Given the description of an element on the screen output the (x, y) to click on. 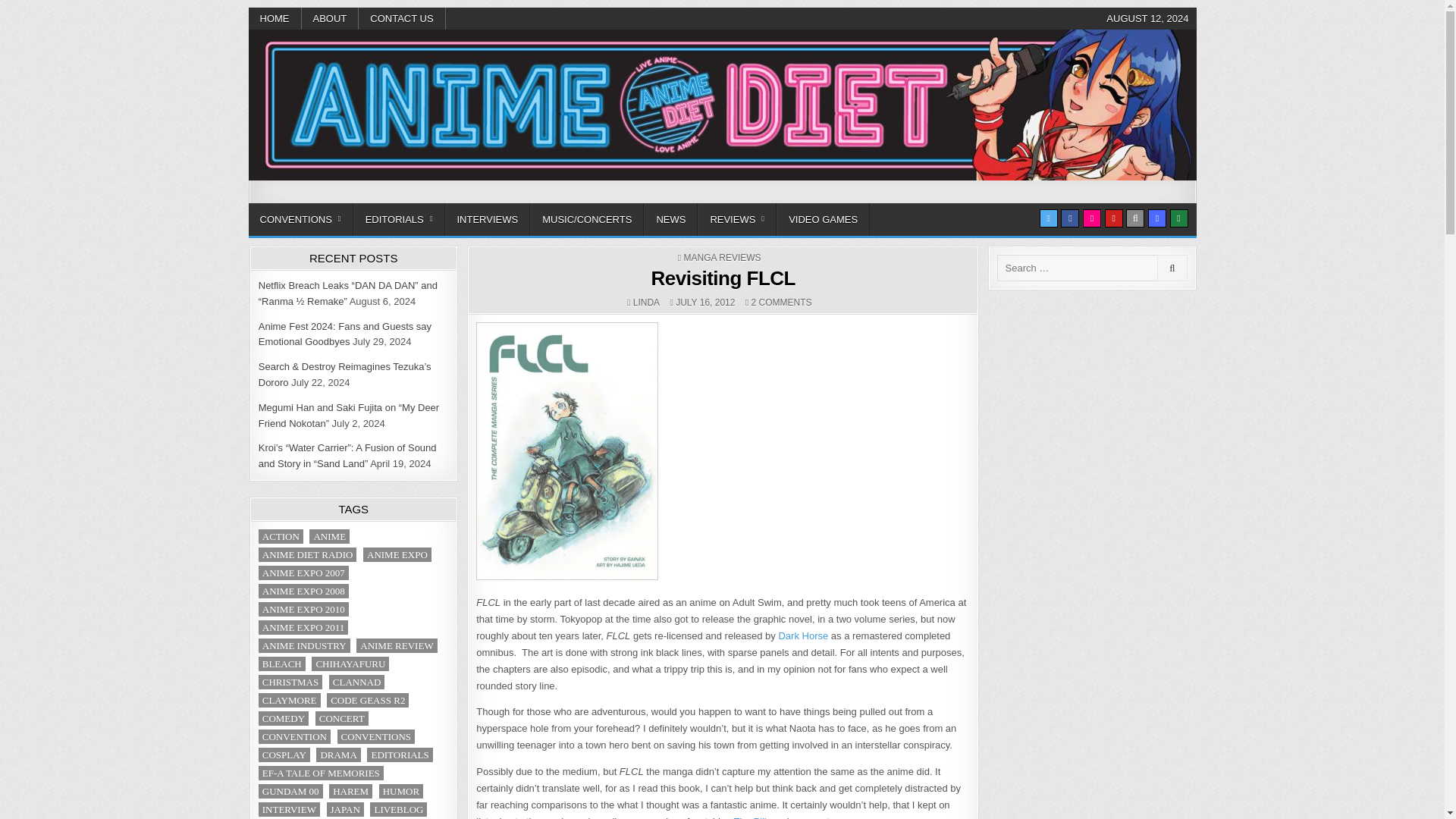
INTERVIEWS (486, 219)
CONTACT US (401, 18)
ABOUT (330, 18)
Youtube (1113, 218)
NEWS (670, 219)
Search (1134, 218)
HOME (274, 18)
CONVENTIONS (300, 219)
Flickr (1091, 218)
Anime Diet (304, 200)
